Given the description of an element on the screen output the (x, y) to click on. 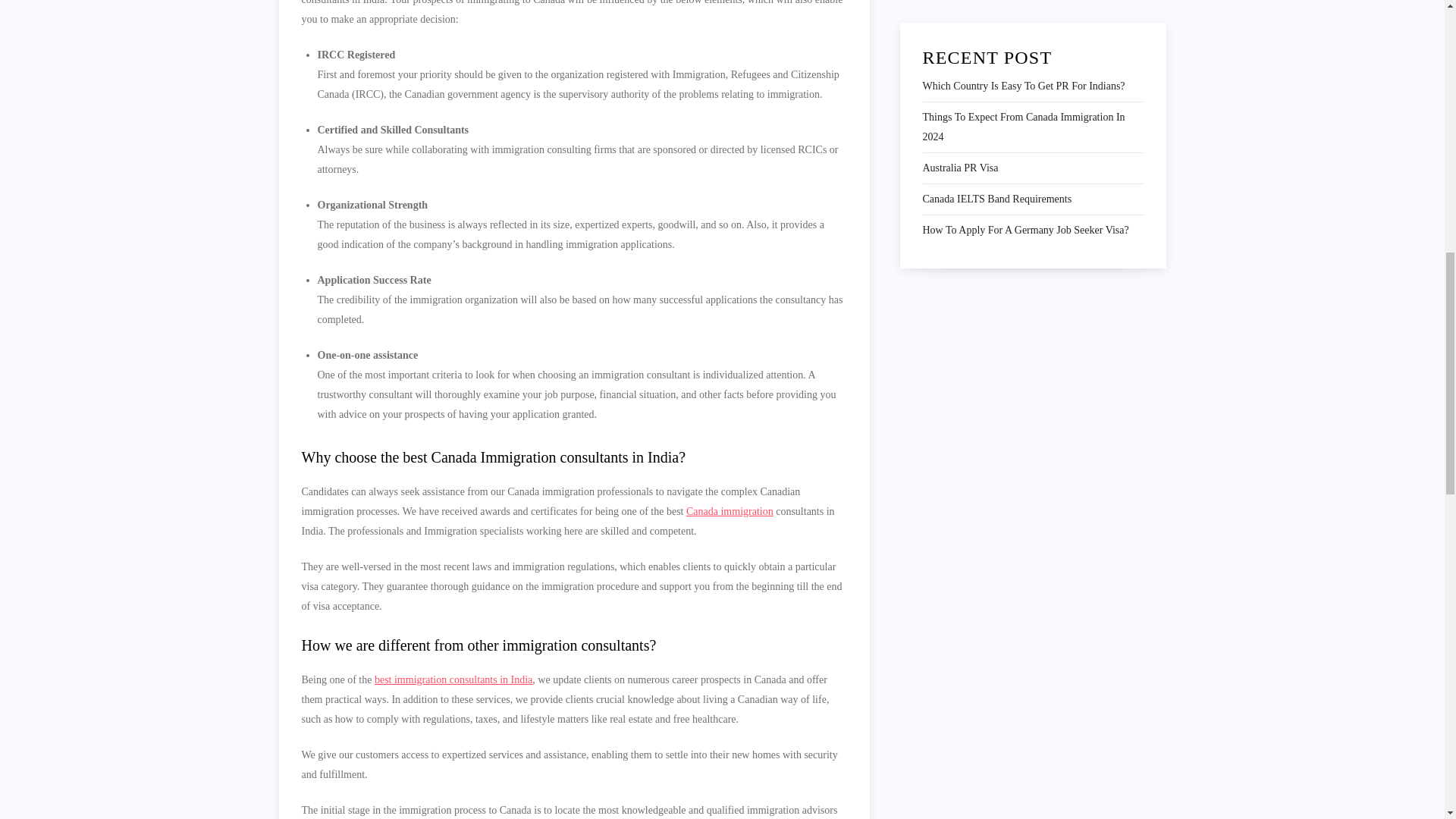
Canada immigration (729, 511)
best immigration consultants in India (453, 679)
